Given the description of an element on the screen output the (x, y) to click on. 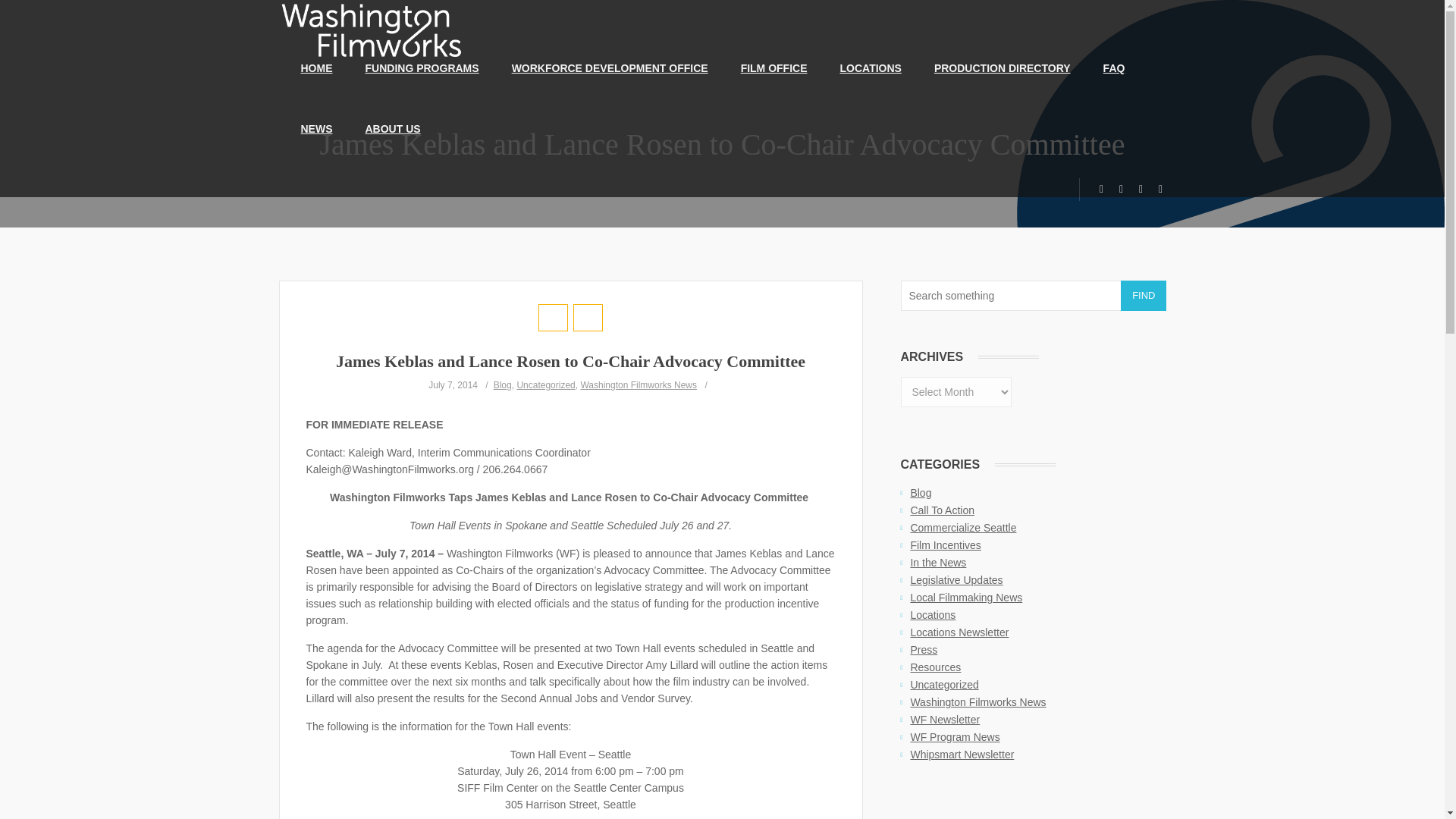
PRODUCTION DIRECTORY (1002, 67)
LOCATIONS (870, 67)
FILM OFFICE (774, 67)
WORKFORCE DEVELOPMENT OFFICE (609, 67)
FUNDING PROGRAMS (422, 67)
